Given the description of an element on the screen output the (x, y) to click on. 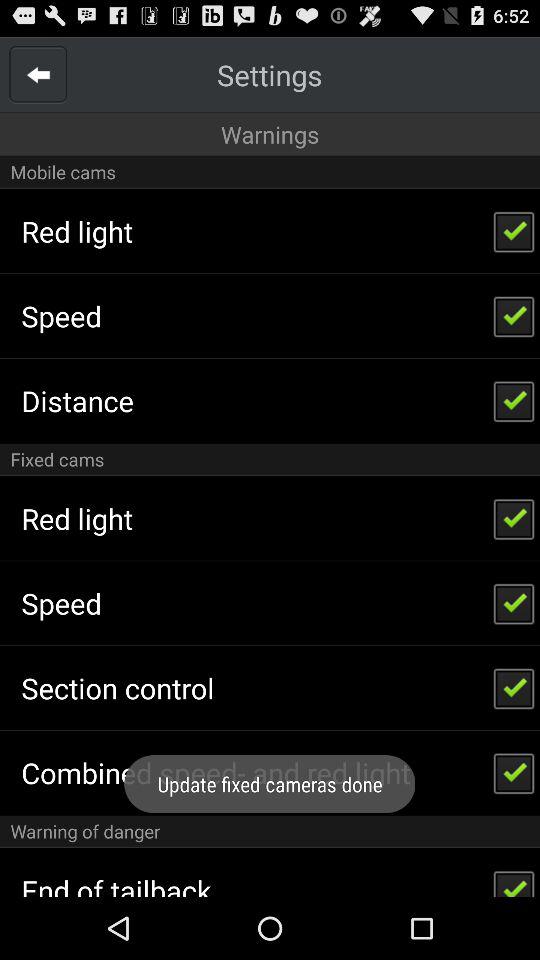
go back (38, 74)
